Given the description of an element on the screen output the (x, y) to click on. 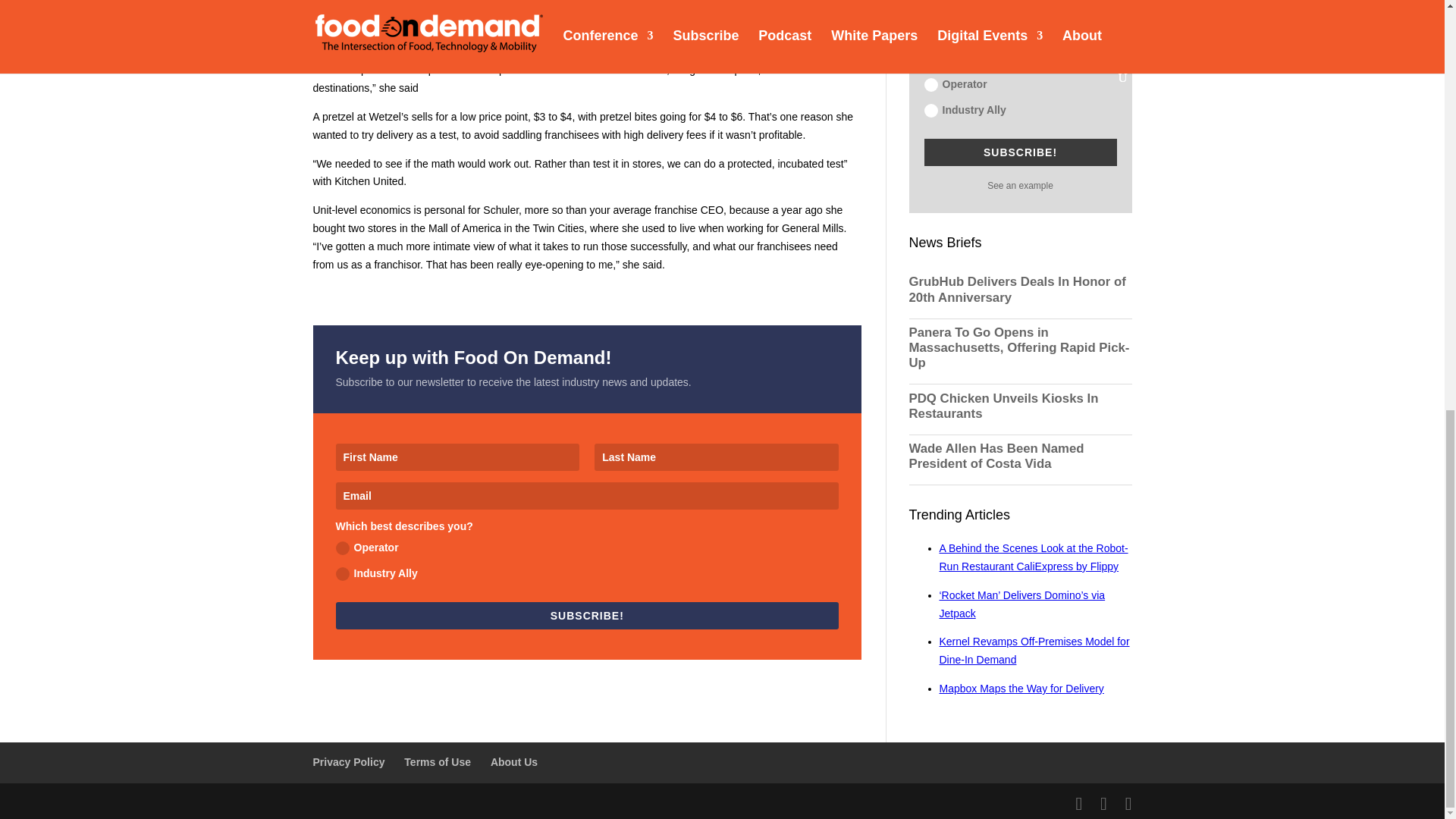
Panera To Go Opens in Massachusetts, Offering Rapid Pick-Up (1019, 348)
About Us (513, 761)
SUBSCRIBE! (1019, 152)
Wade Allen Has Been Named President of Costa Vida (1019, 456)
SUBSCRIBE! (586, 614)
See an example (1019, 185)
Privacy Policy (348, 761)
Terms of Use (437, 761)
PDQ Chicken Unveils Kiosks In Restaurants (1019, 406)
GrubHub Delivers Deals In Honor of 20th Anniversary (1019, 289)
